Given the description of an element on the screen output the (x, y) to click on. 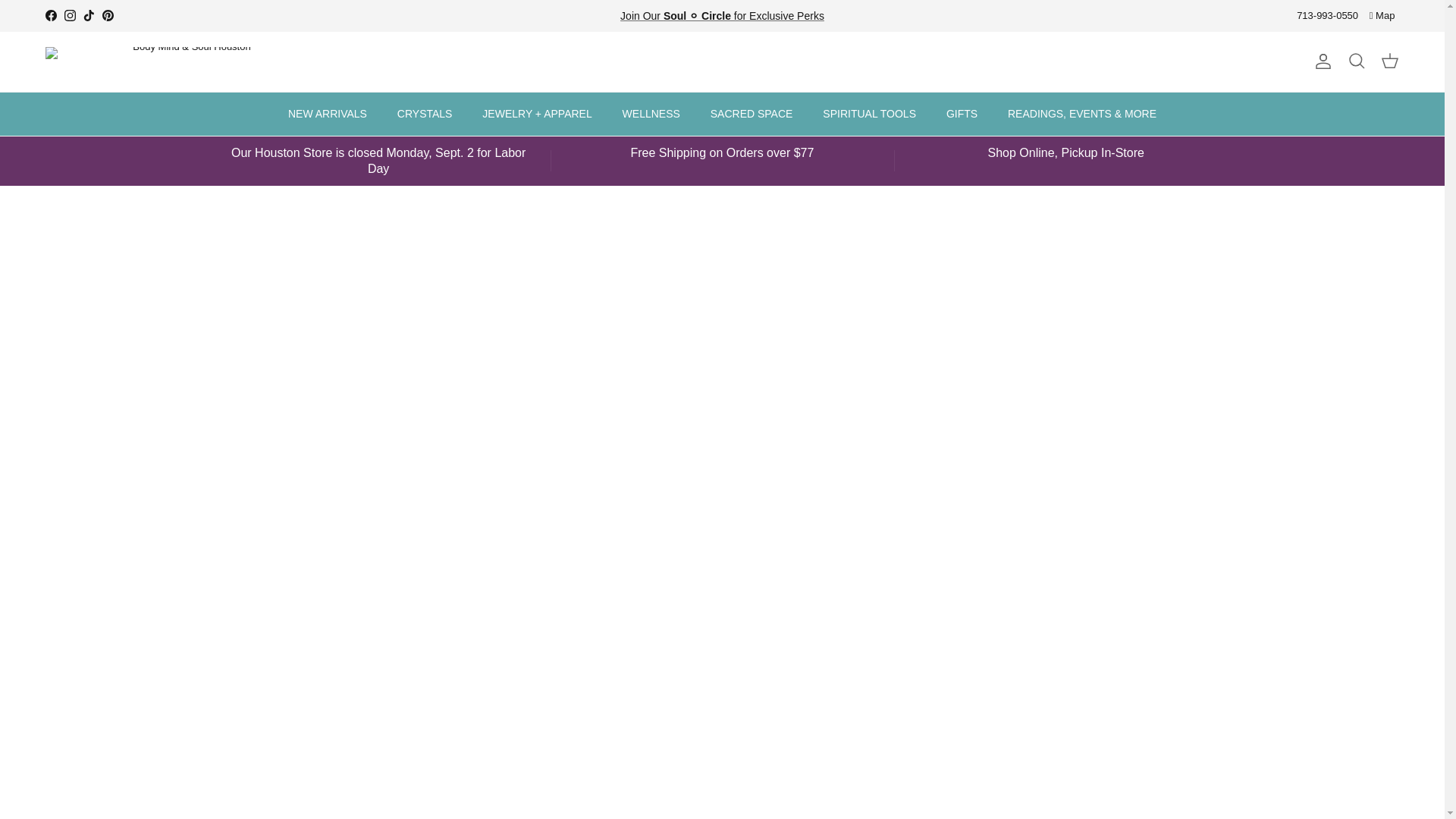
Pinterest (107, 15)
Subscribe (722, 15)
Cart (1389, 61)
NEW ARRIVALS (327, 113)
Search (1356, 61)
Facebook (50, 15)
Account (1319, 61)
Instagram (69, 15)
TikTok (88, 15)
713-993-0550 (1327, 16)
